Given the description of an element on the screen output the (x, y) to click on. 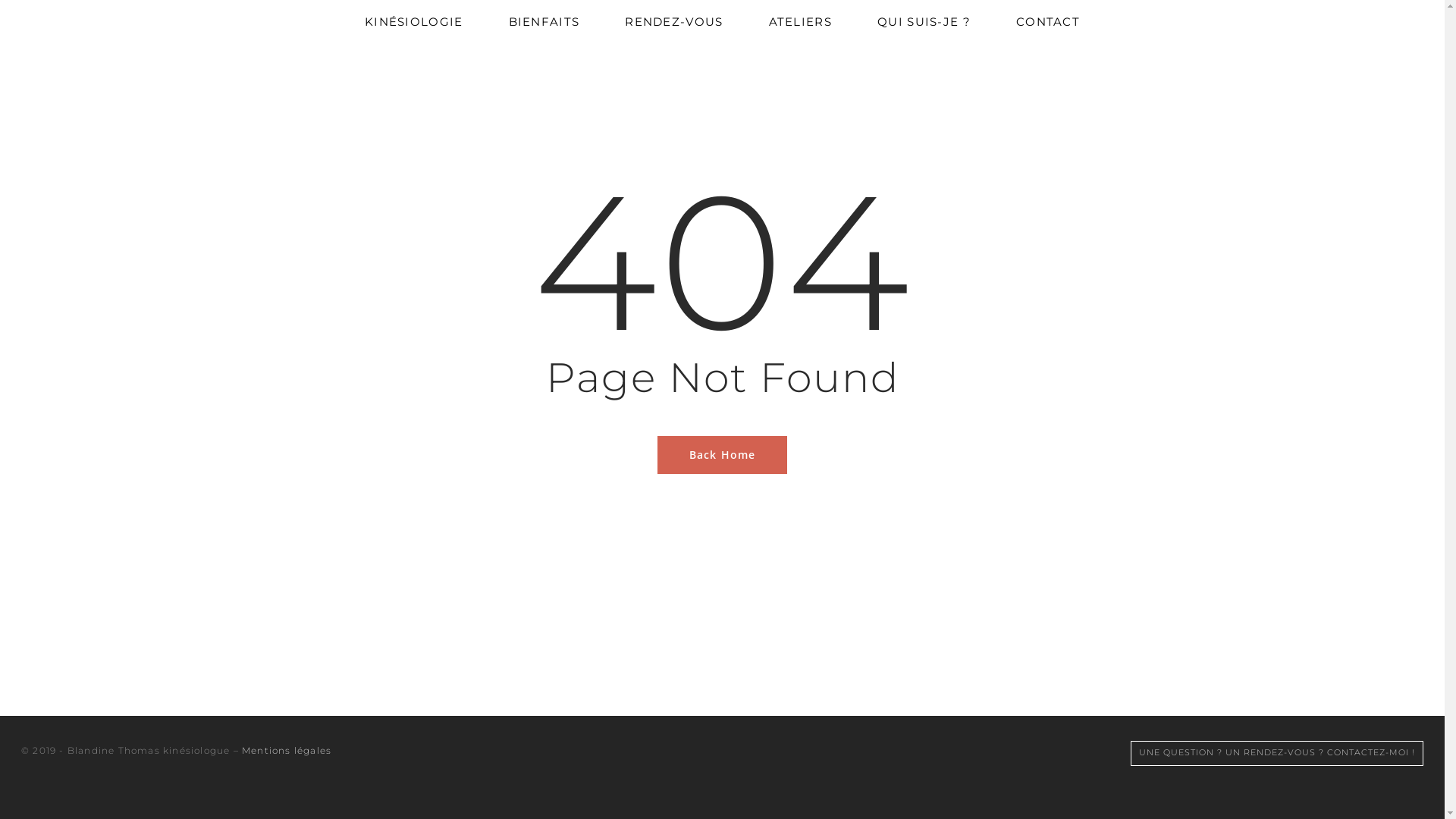
ATELIERS Element type: text (800, 20)
BIENFAITS Element type: text (544, 20)
RENDEZ-VOUS Element type: text (673, 20)
UNE QUESTION ? UN RENDEZ-VOUS ? CONTACTEZ-MOI ! Element type: text (1277, 751)
QUI SUIS-JE ? Element type: text (923, 20)
CONTACT Element type: text (1047, 20)
Back Home Element type: text (722, 454)
